Given the description of an element on the screen output the (x, y) to click on. 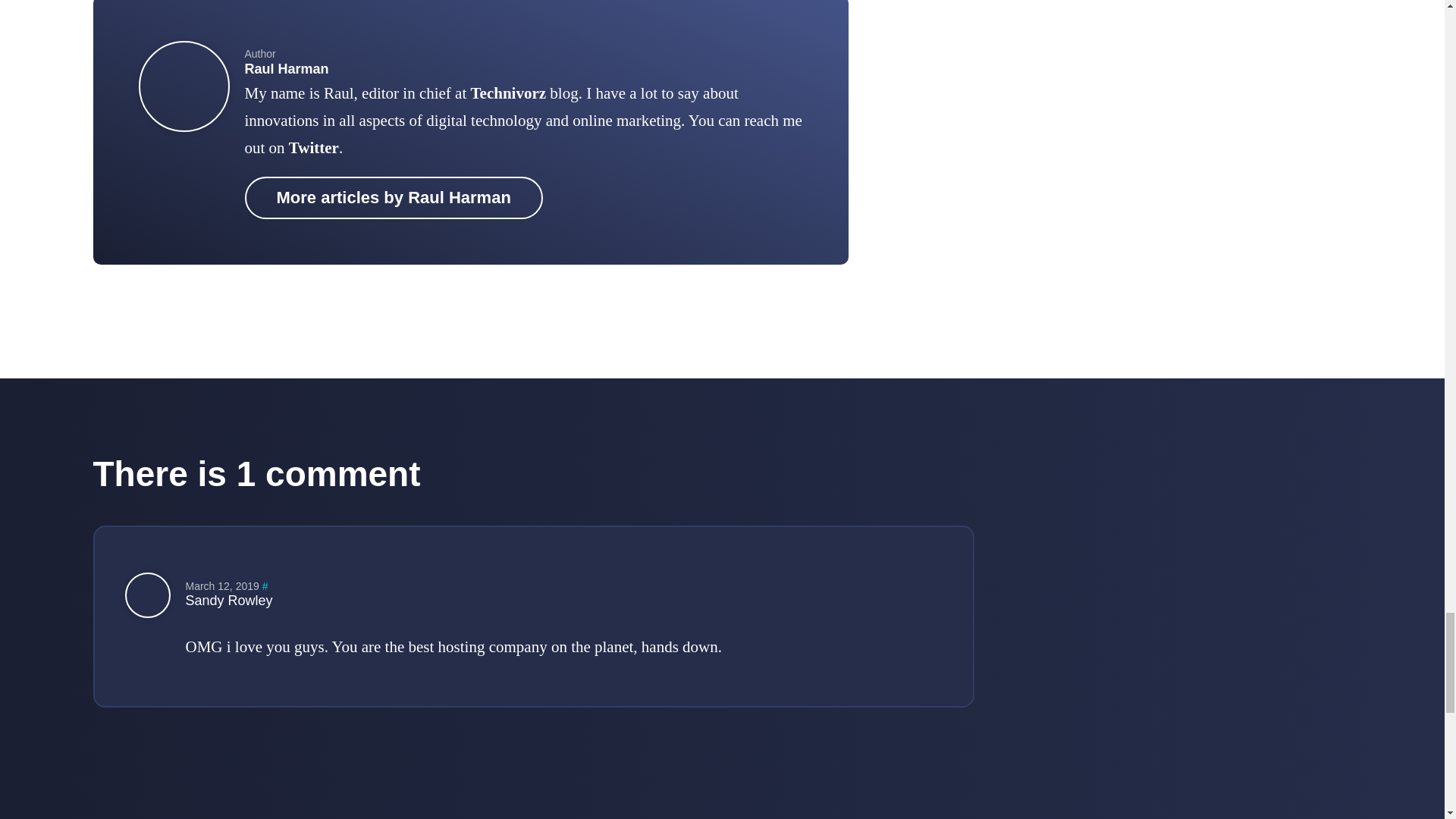
Twitter (313, 147)
More articles by Raul Harman (392, 197)
Raul Harman (286, 68)
Technivorz (508, 93)
